Given the description of an element on the screen output the (x, y) to click on. 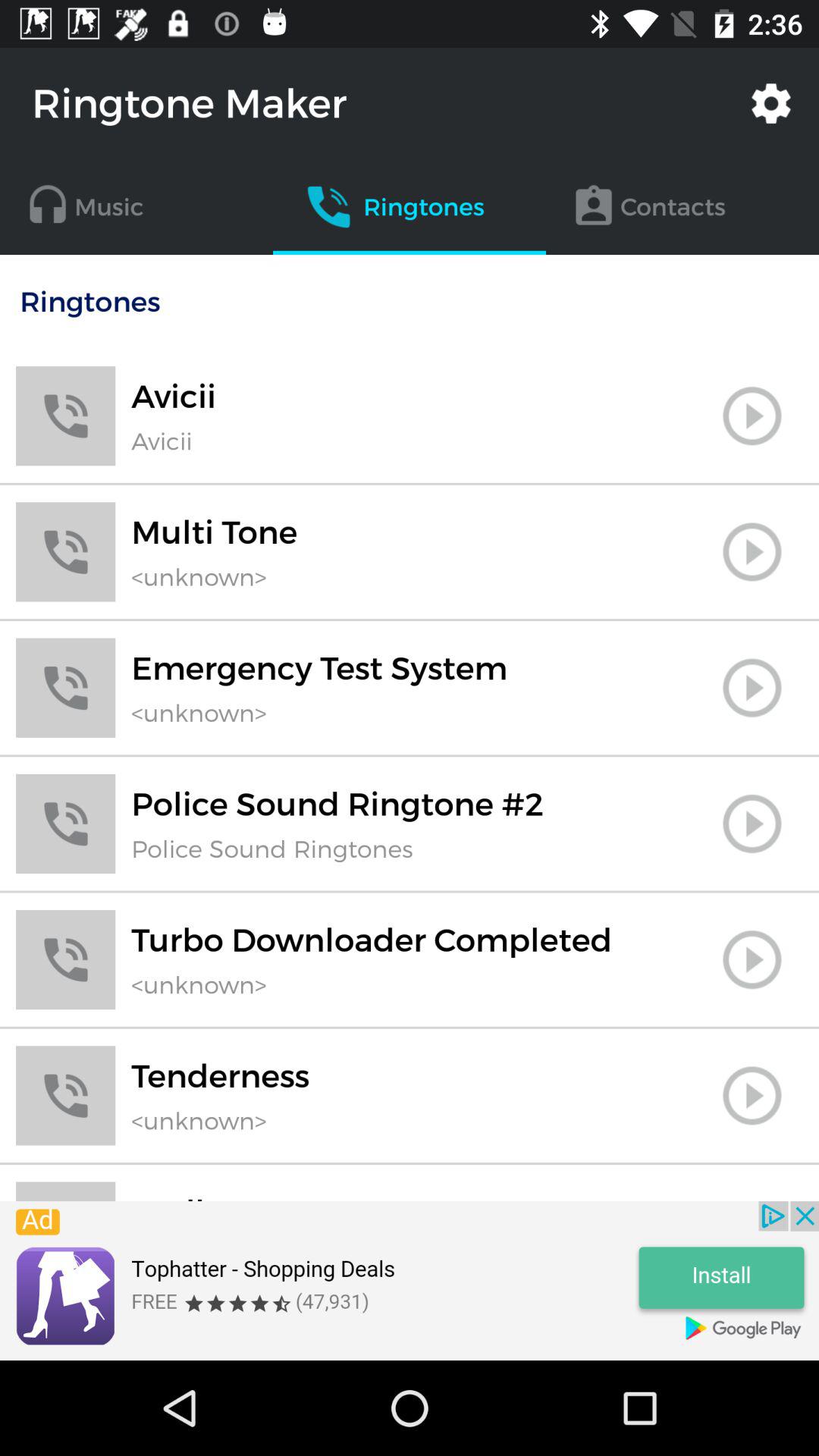
next button (752, 823)
